Given the description of an element on the screen output the (x, y) to click on. 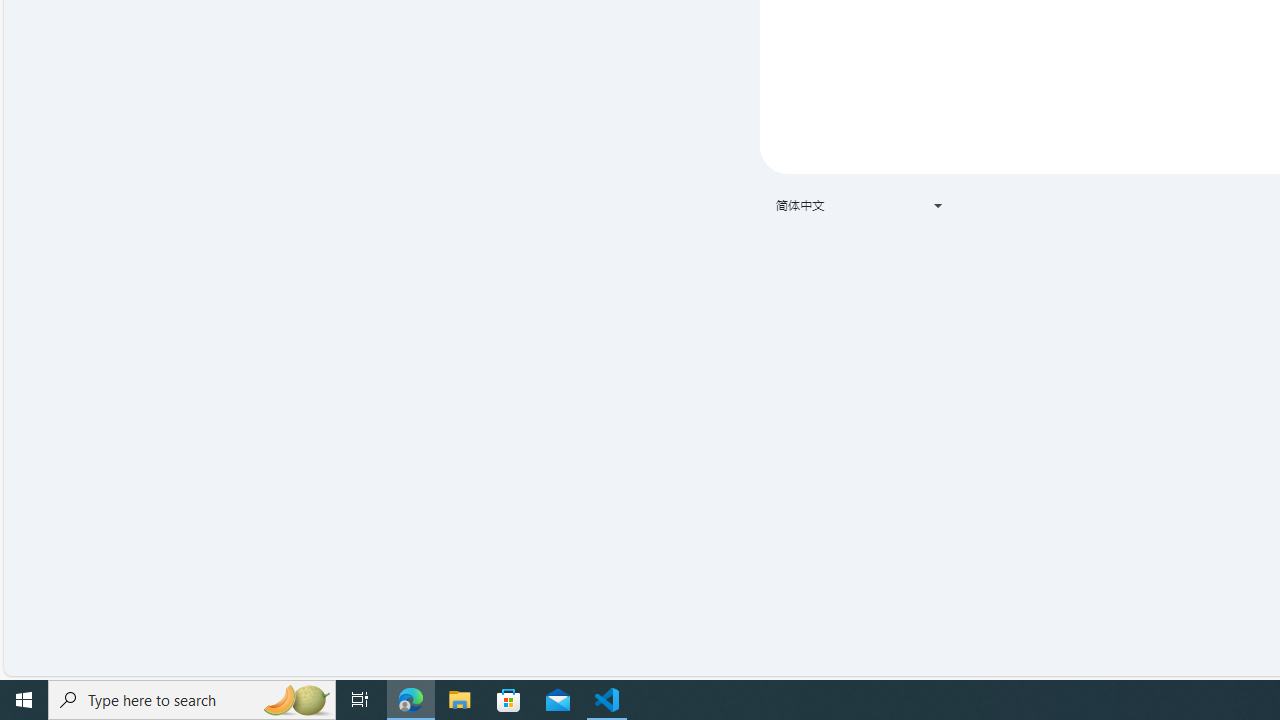
Class: VfPpkd-t08AT-Bz112c-Bd00G (938, 205)
